Given the description of an element on the screen output the (x, y) to click on. 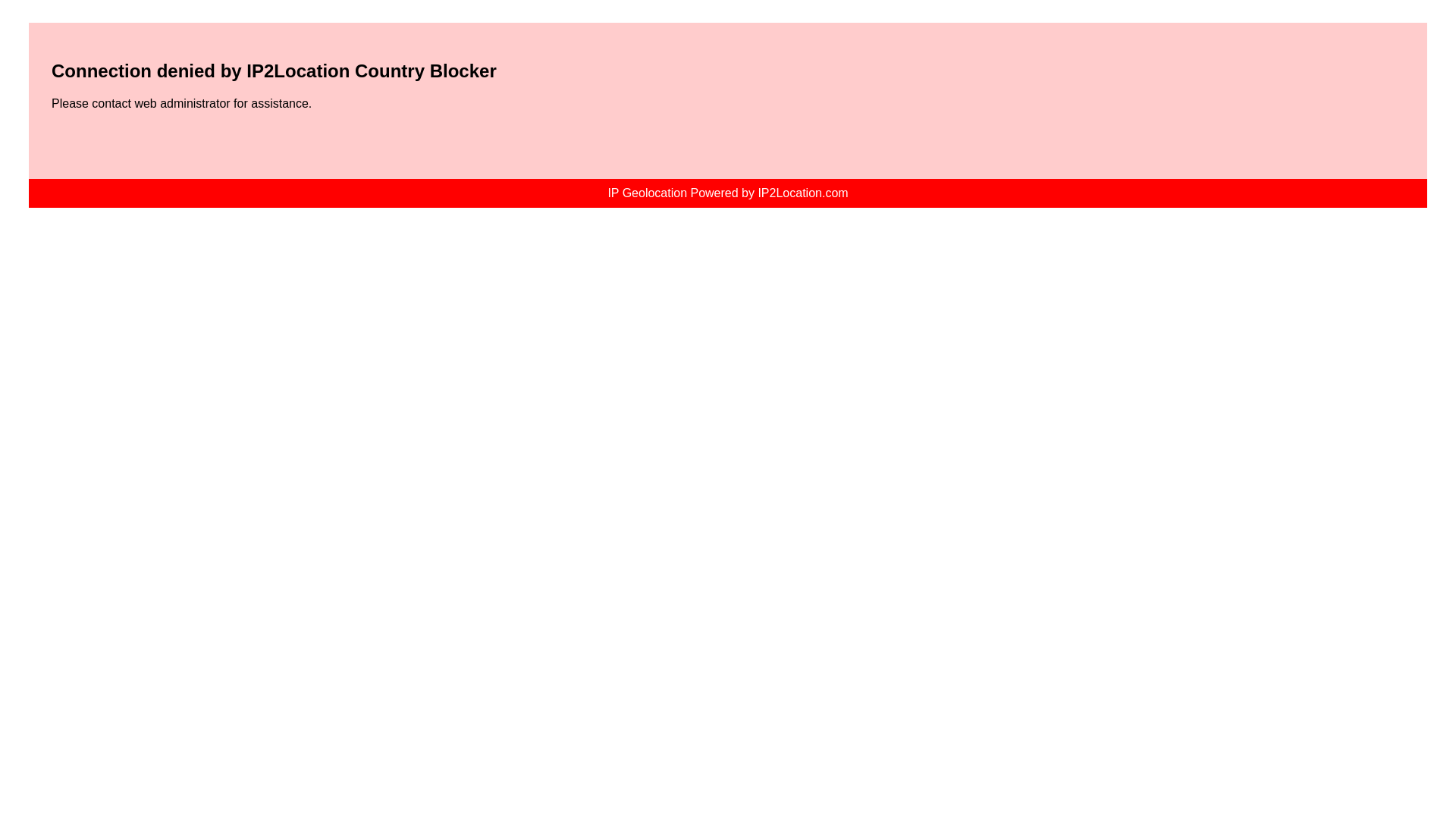
IP Geolocation Powered by IP2Location.com (727, 192)
